Given the description of an element on the screen output the (x, y) to click on. 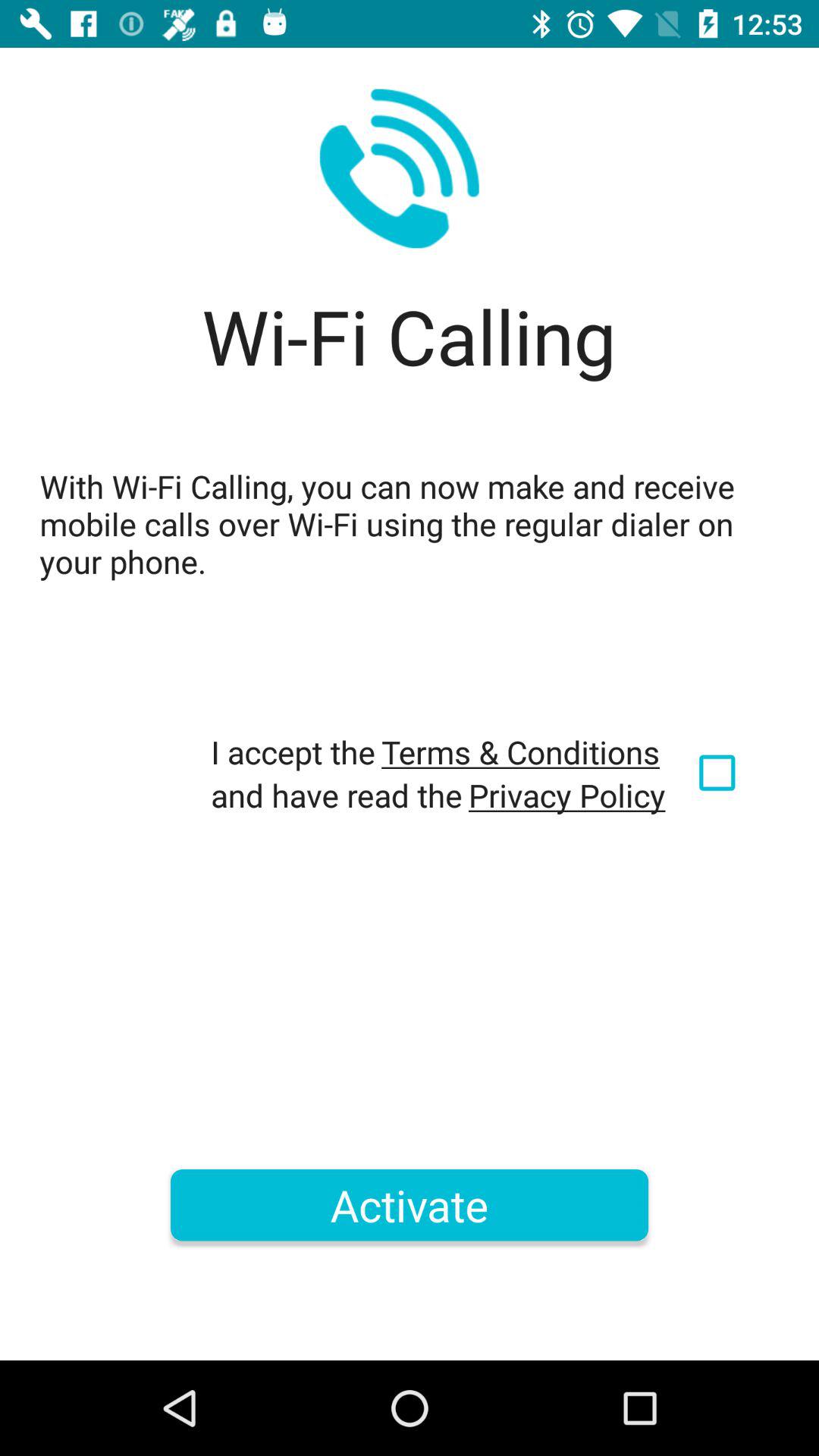
open the app above and have read item (520, 751)
